Given the description of an element on the screen output the (x, y) to click on. 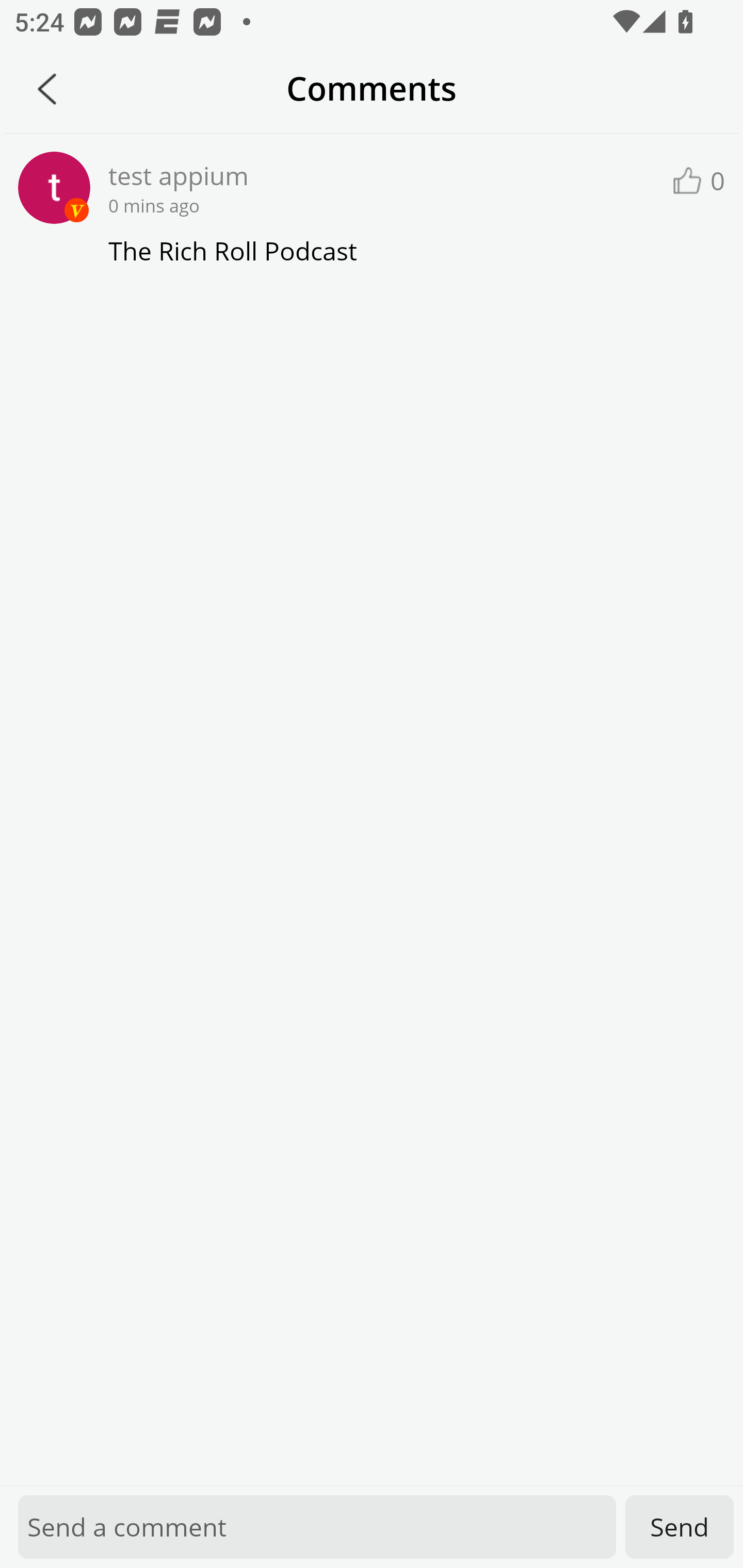
Back (46, 88)
Send a comment (316, 1526)
Send (679, 1526)
